Given the description of an element on the screen output the (x, y) to click on. 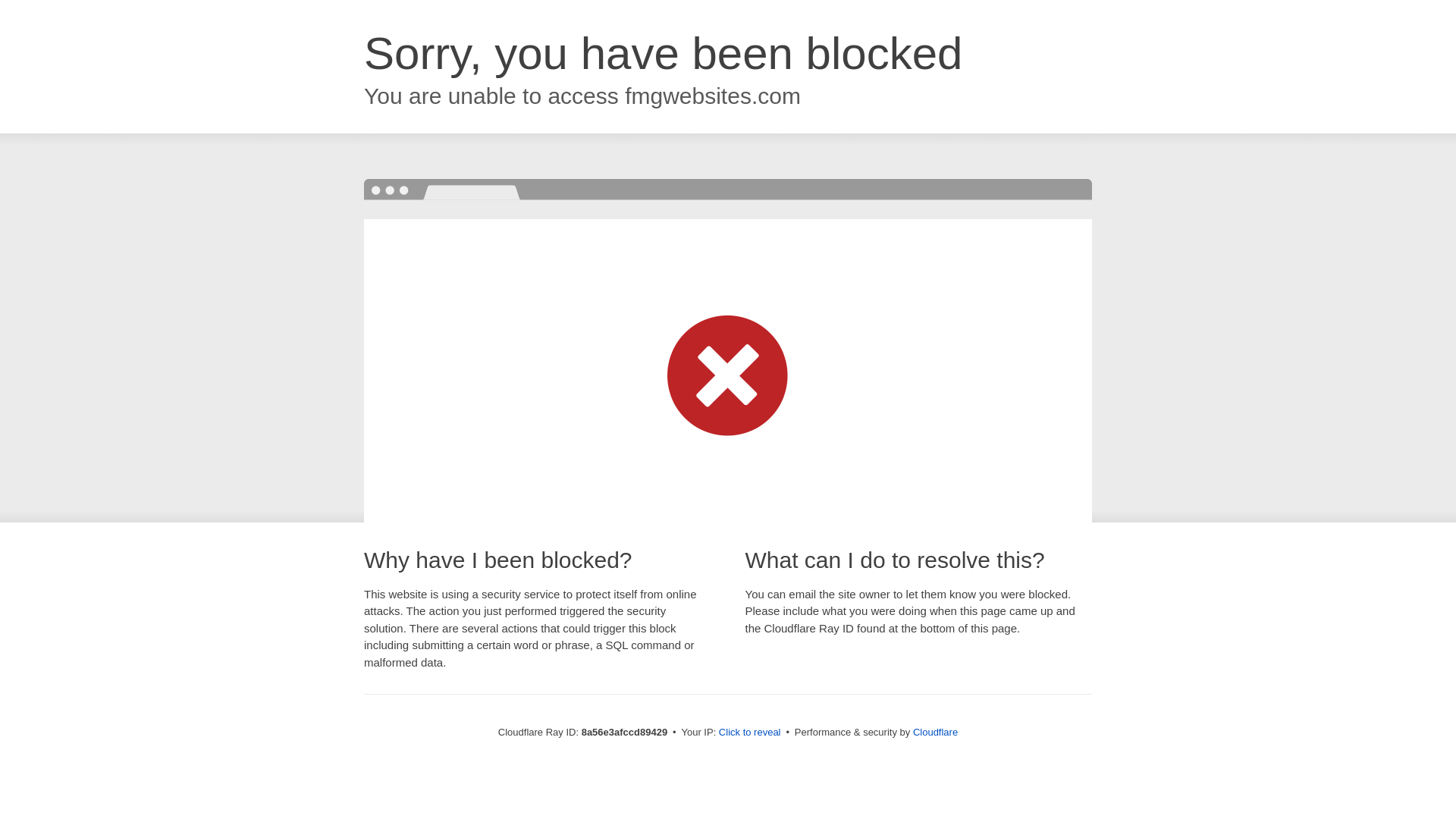
Cloudflare (935, 731)
Click to reveal (749, 732)
